Given the description of an element on the screen output the (x, y) to click on. 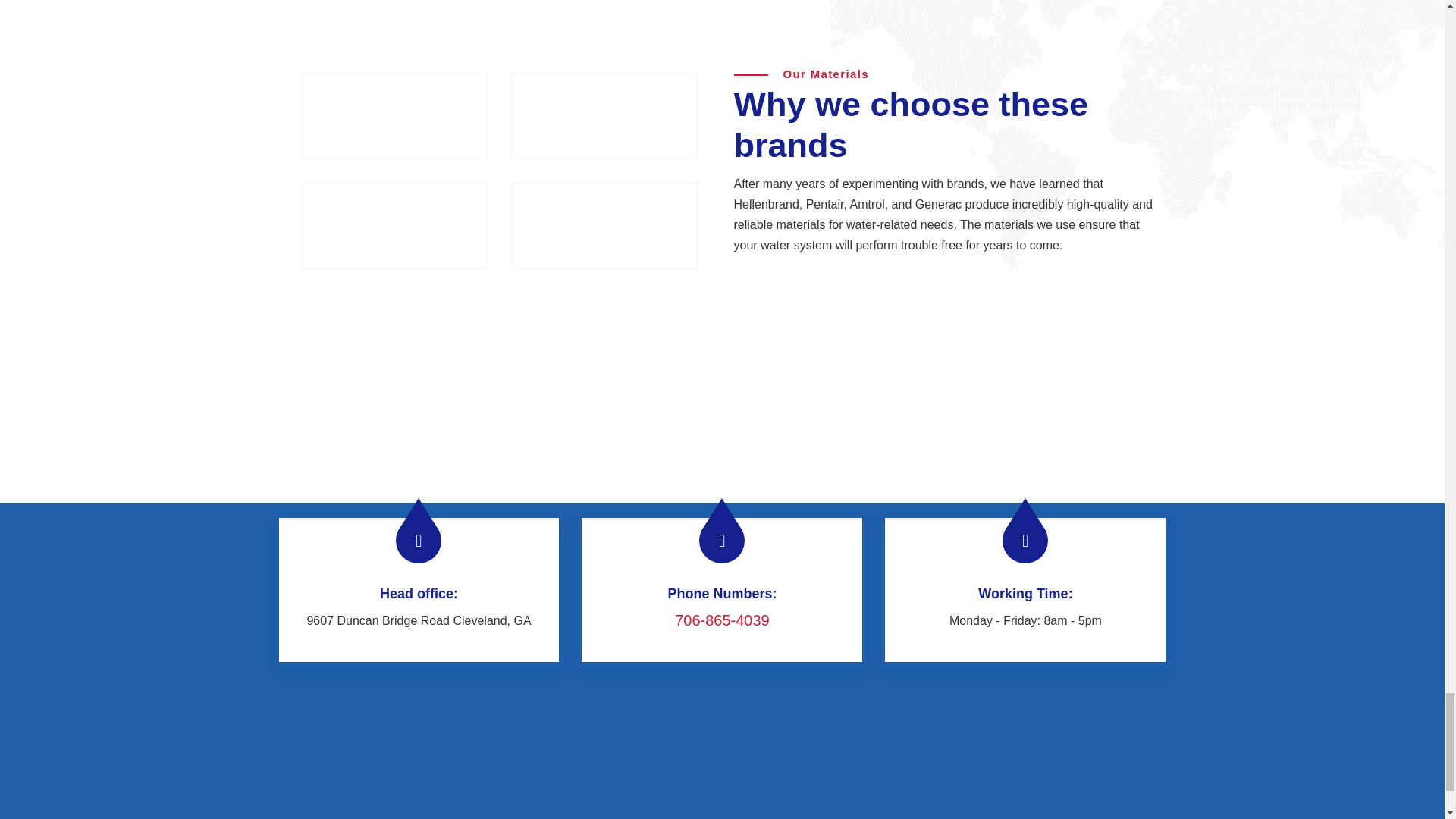
706-865-4039 (722, 619)
